Given the description of an element on the screen output the (x, y) to click on. 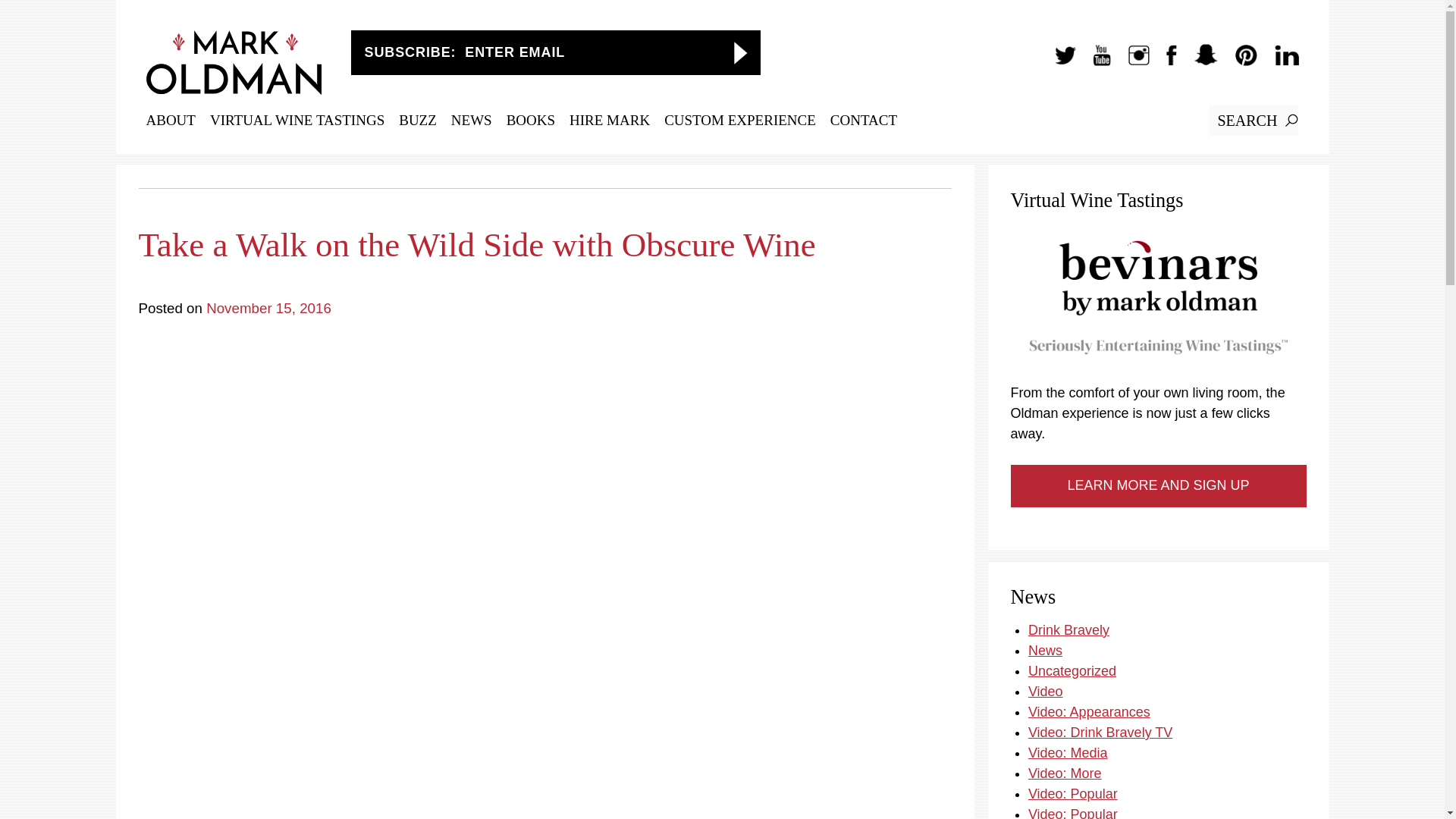
HIRE MARK (609, 120)
SnapChat (1198, 62)
LinkedIn (1278, 62)
VIRTUAL WINE TASTINGS (296, 120)
Facebook (1163, 62)
CONTACT (862, 120)
YouTube (1094, 62)
NEWS (471, 120)
Take a Walk on the Wild Side with Obscure Wine (544, 236)
